Given the description of an element on the screen output the (x, y) to click on. 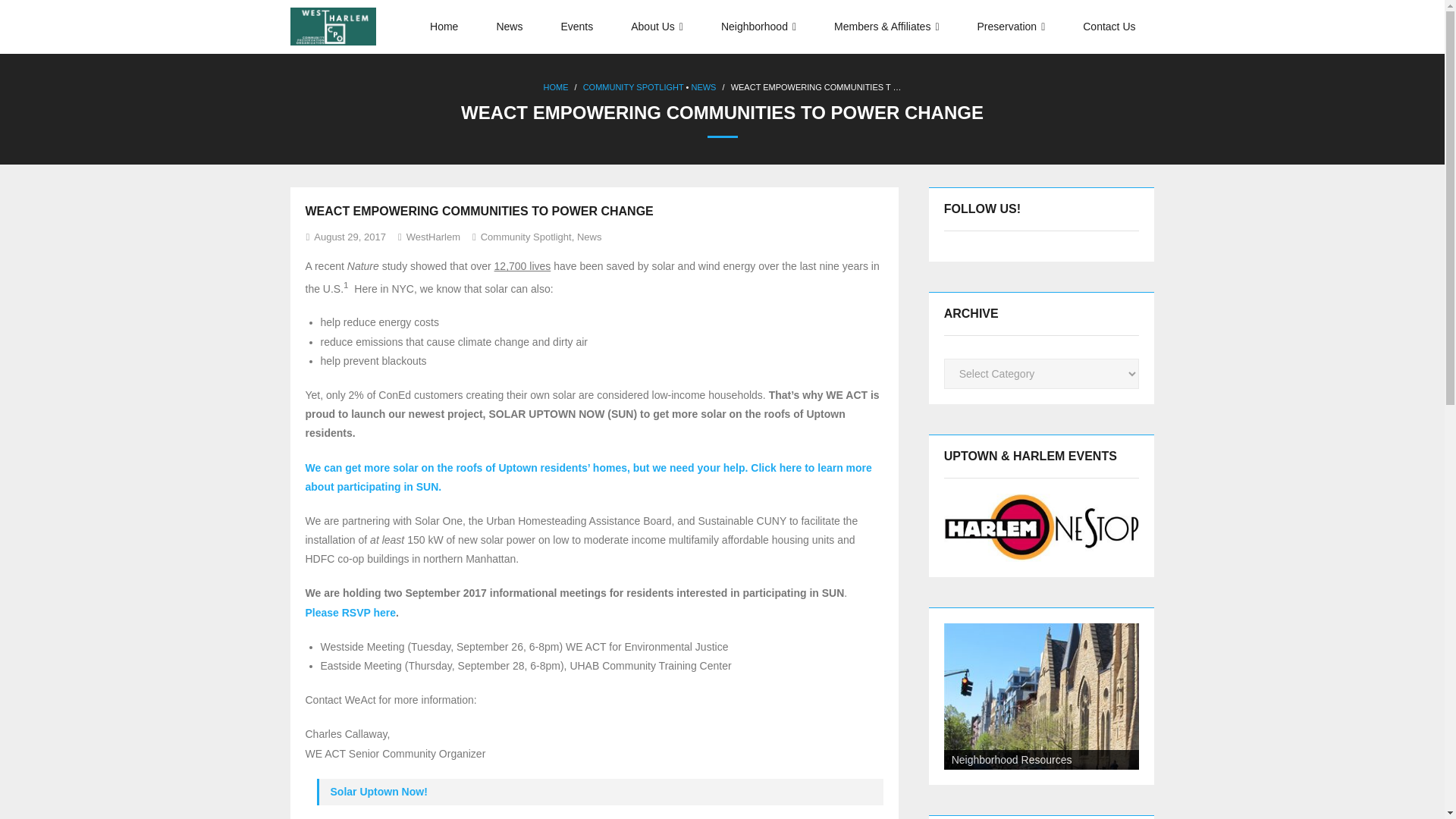
Events (576, 27)
Home (443, 27)
Neighborhood (758, 27)
COMMUNITY SPOTLIGHT (633, 86)
View all posts by WestHarlem (433, 236)
About Us (656, 27)
Preservation (1011, 27)
Contact Us (1109, 27)
News (509, 27)
HOME (555, 86)
WeAct Empowering Communities to Power Change (349, 236)
NEWS (703, 86)
